Given the description of an element on the screen output the (x, y) to click on. 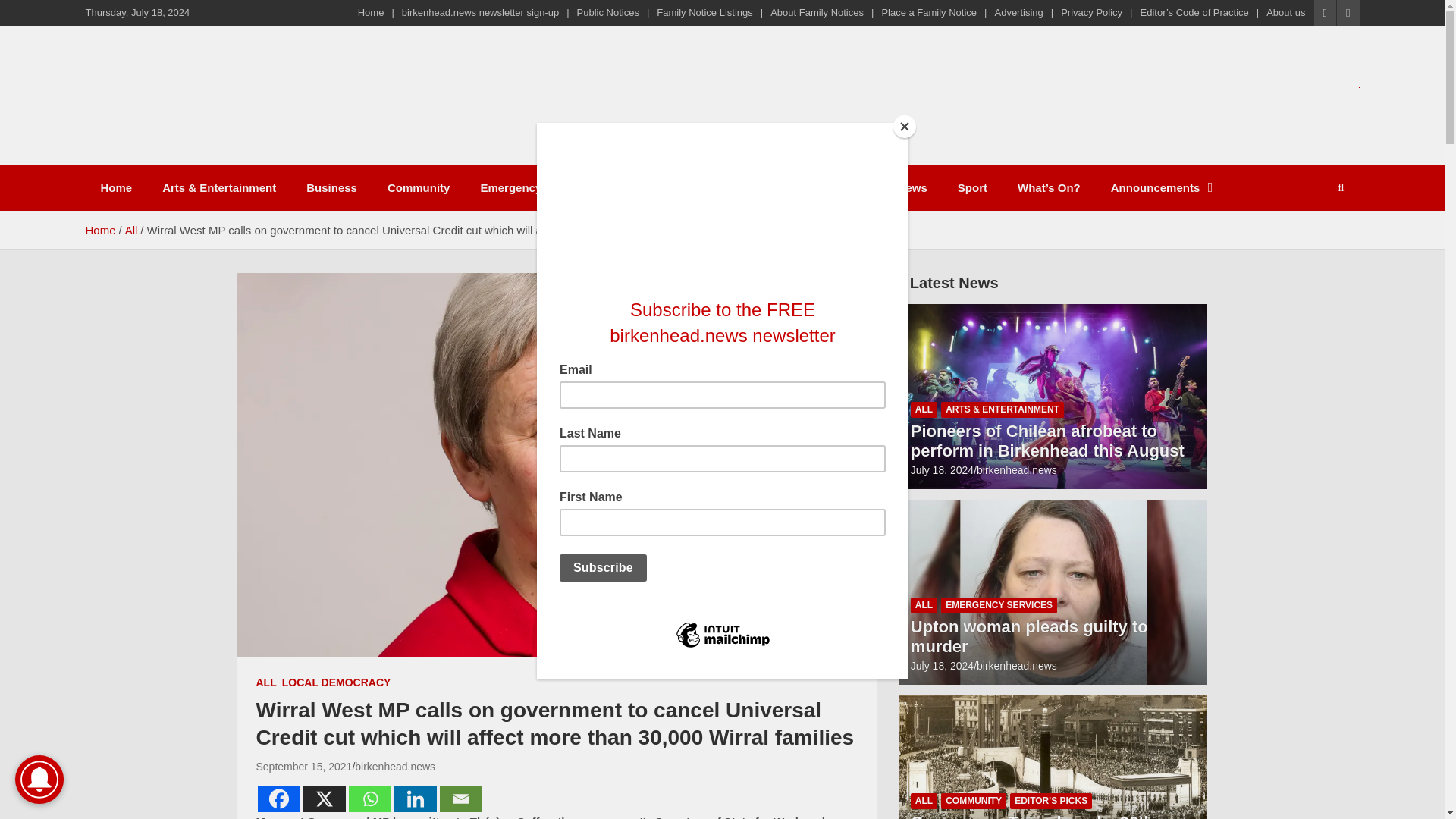
birkenhead.news (395, 766)
Local Democracy (768, 187)
Environment (656, 187)
Whatsapp (370, 798)
Community (418, 187)
Emergency Services (535, 187)
LOCAL DEMOCRACY (336, 683)
Linkedin (415, 798)
Upton woman pleads guilty to murder (942, 665)
September 15, 2021 (304, 766)
Business (331, 187)
Public Notices (607, 12)
Family Notice Listings (704, 12)
About Family Notices (816, 12)
Home (371, 12)
